Given the description of an element on the screen output the (x, y) to click on. 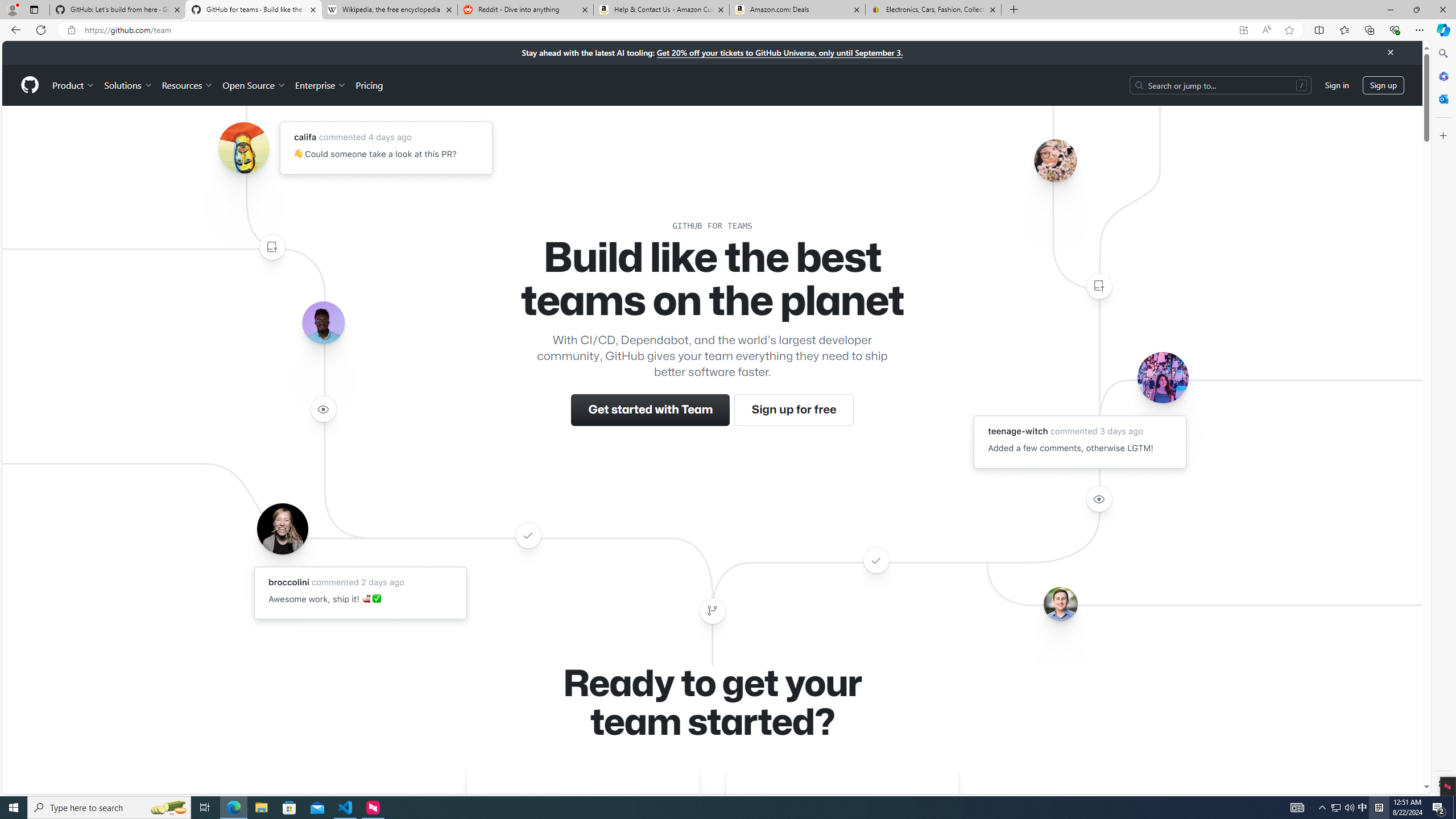
Solutions (128, 84)
Product (74, 84)
Avatar of the user califa (243, 147)
Solutions (128, 84)
Pricing (368, 84)
Avatar of the user broccolini (282, 528)
Avatar of the user teenage-witch (1162, 376)
Open Source (254, 84)
